Given the description of an element on the screen output the (x, y) to click on. 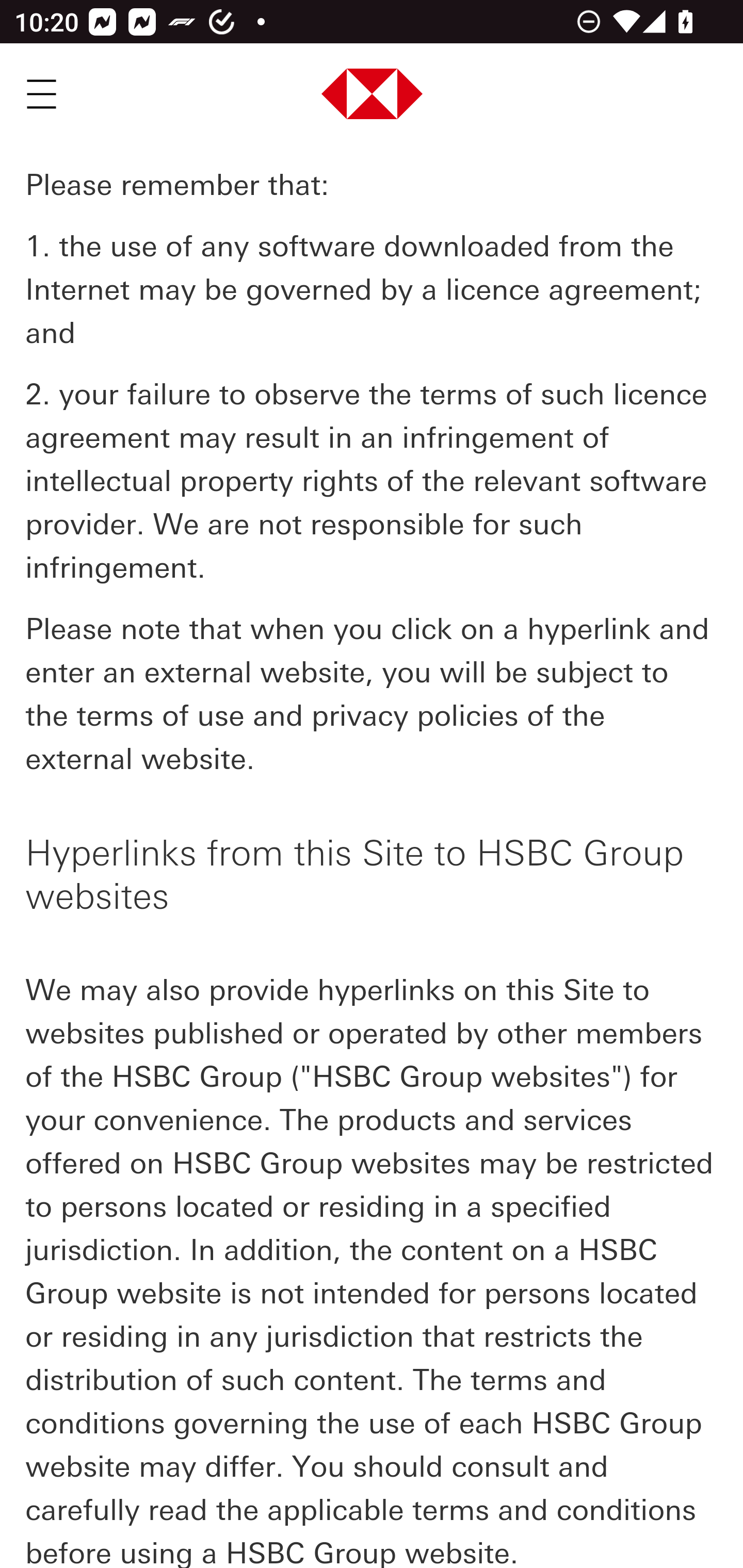
HSBC Hong Kong Bank (372, 96)
Mobile Menu Trigger (41, 94)
